Given the description of an element on the screen output the (x, y) to click on. 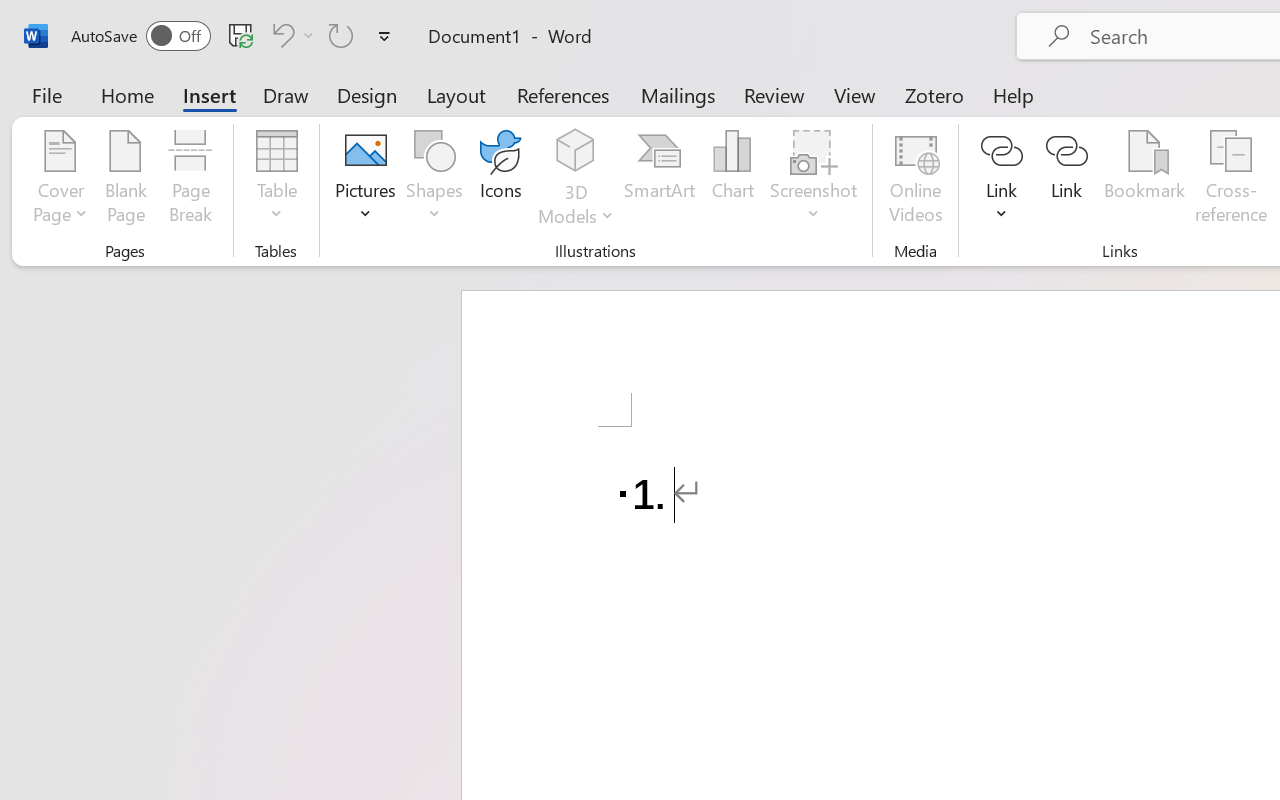
Chart... (732, 179)
3D Models (576, 151)
Pictures (365, 179)
Bookmark... (1144, 179)
